Given the description of an element on the screen output the (x, y) to click on. 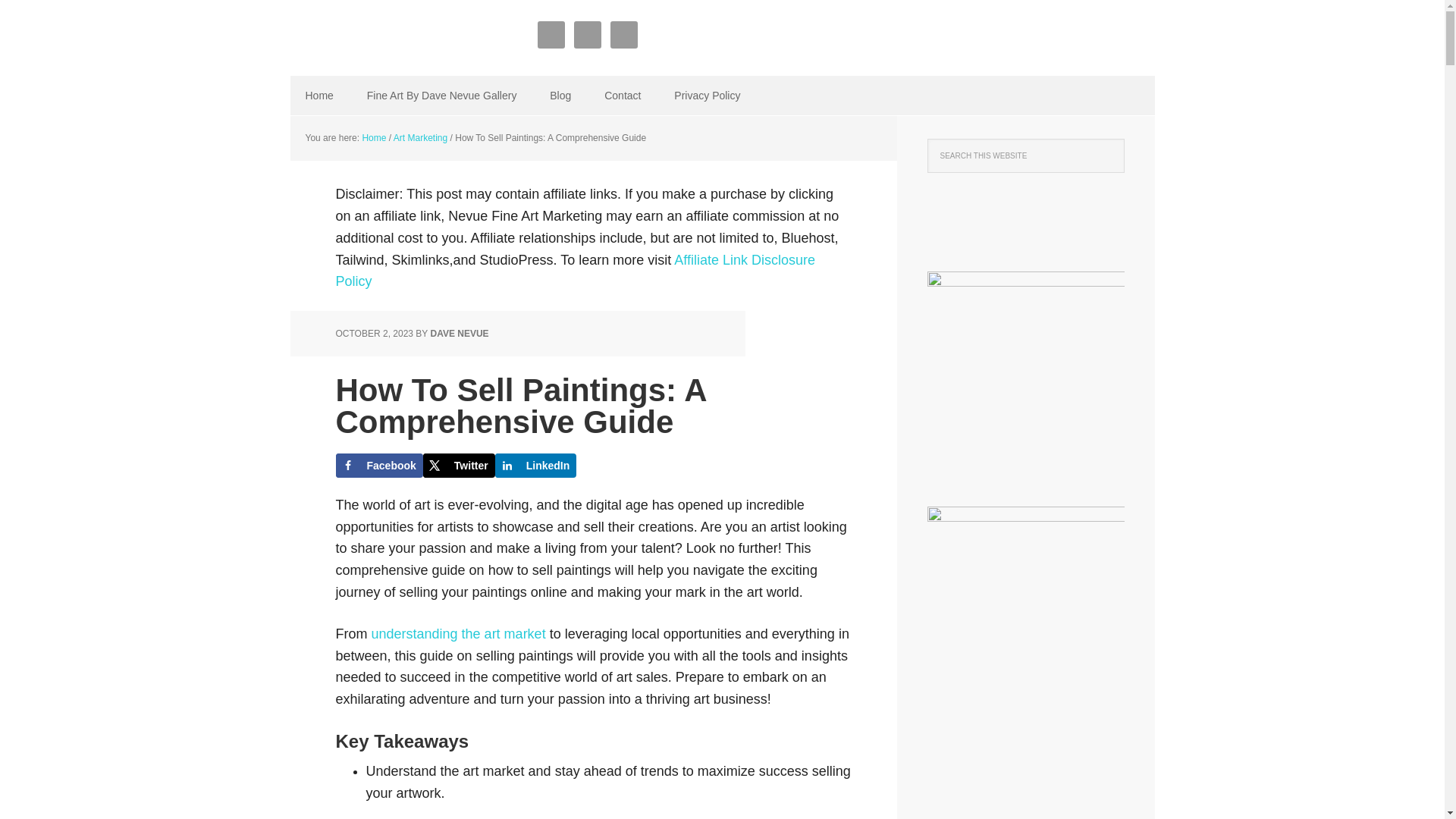
Privacy Policy (707, 96)
Twitter (459, 465)
Home (318, 96)
Home (373, 137)
Art Marketing (419, 137)
Fine Art By Dave Nevue Gallery (442, 96)
Nevue Fine Art Marketing (387, 38)
Share on LinkedIn (535, 465)
DAVE NEVUE (458, 333)
Affiliate Link Disclosure Policy (574, 270)
Facebook (378, 465)
Contact (622, 96)
understanding the art market (458, 633)
